Given the description of an element on the screen output the (x, y) to click on. 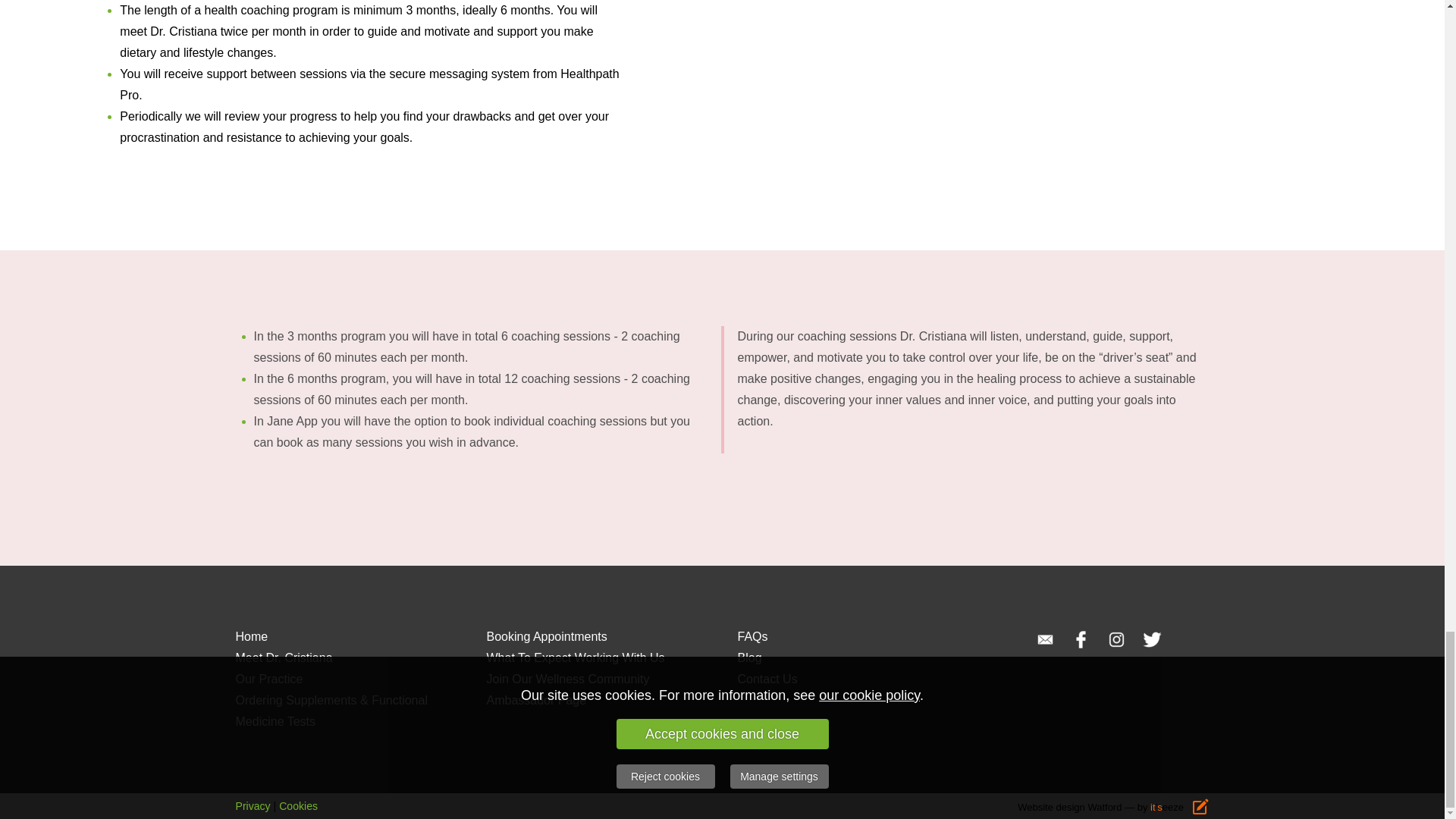
Blog (748, 657)
Home (250, 635)
Our Practice (268, 678)
Join Our Wellness Community (567, 678)
Ambassador Page (536, 699)
Contact Us (766, 678)
FAQs (751, 635)
Booking Appointments (546, 635)
Meet Dr. Cristiana (282, 657)
What To Expect Working With Us (575, 657)
